Given the description of an element on the screen output the (x, y) to click on. 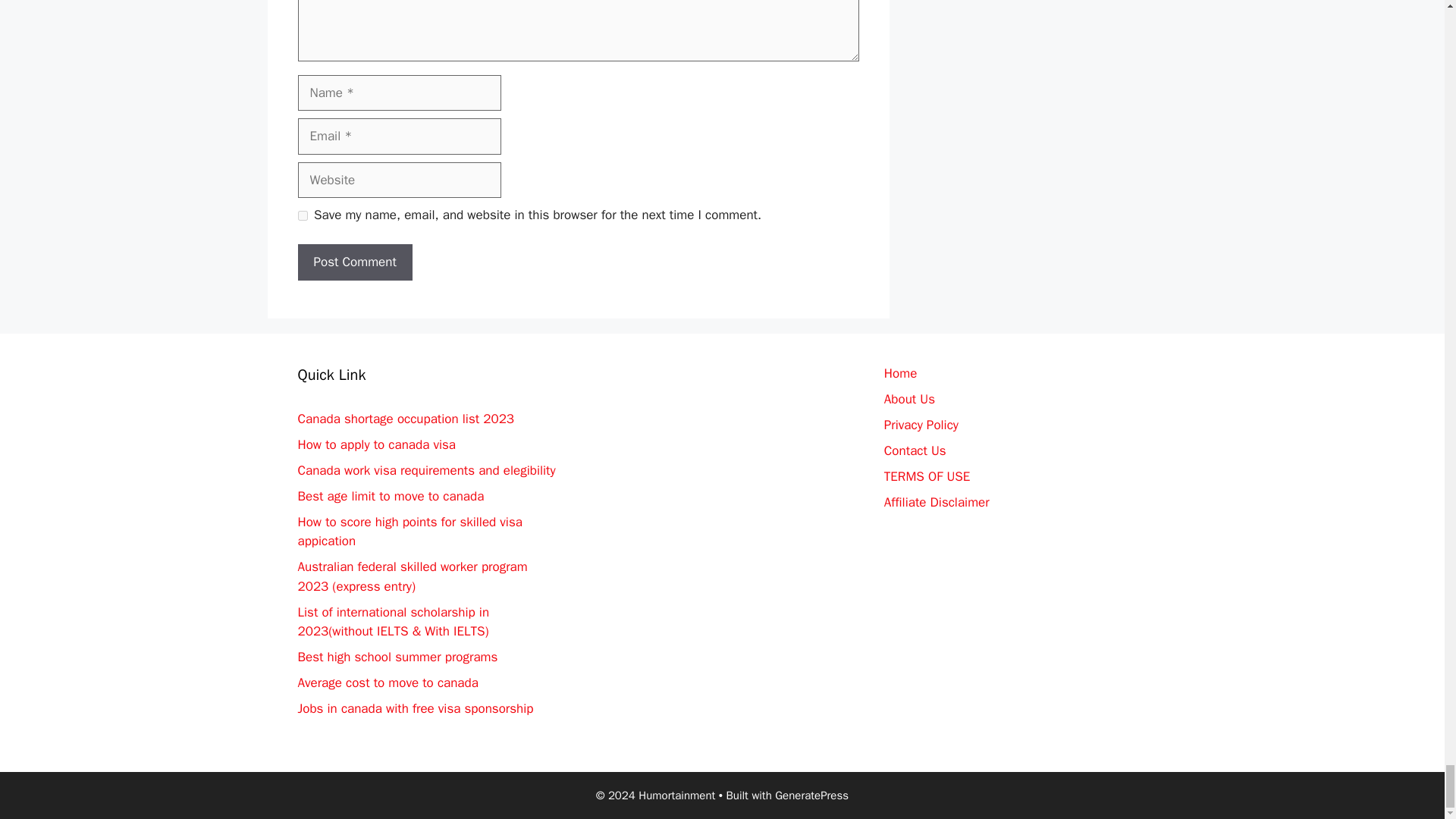
Post Comment (354, 262)
yes (302, 215)
